Given the description of an element on the screen output the (x, y) to click on. 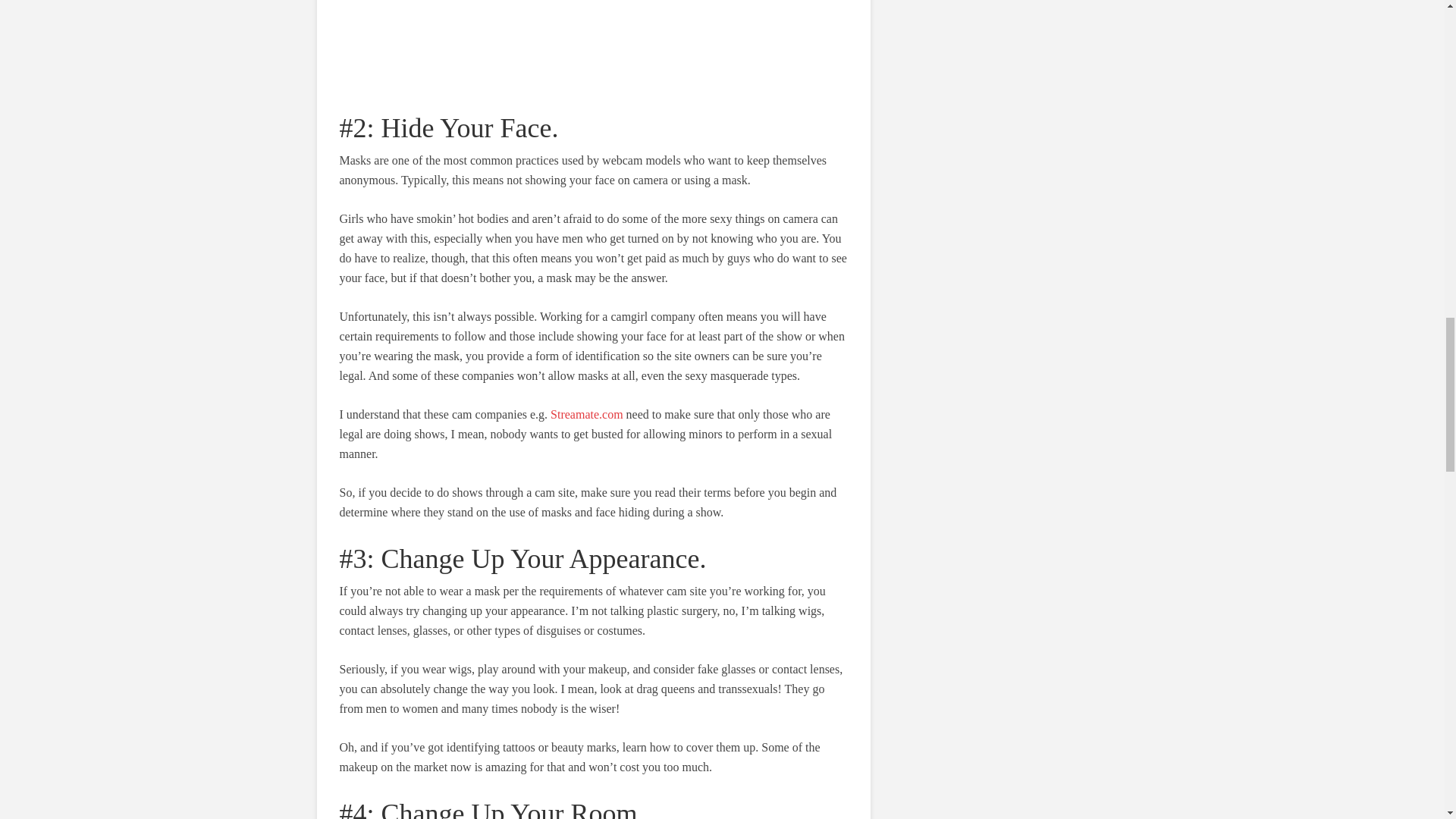
Streamate.com (586, 413)
